Given the description of an element on the screen output the (x, y) to click on. 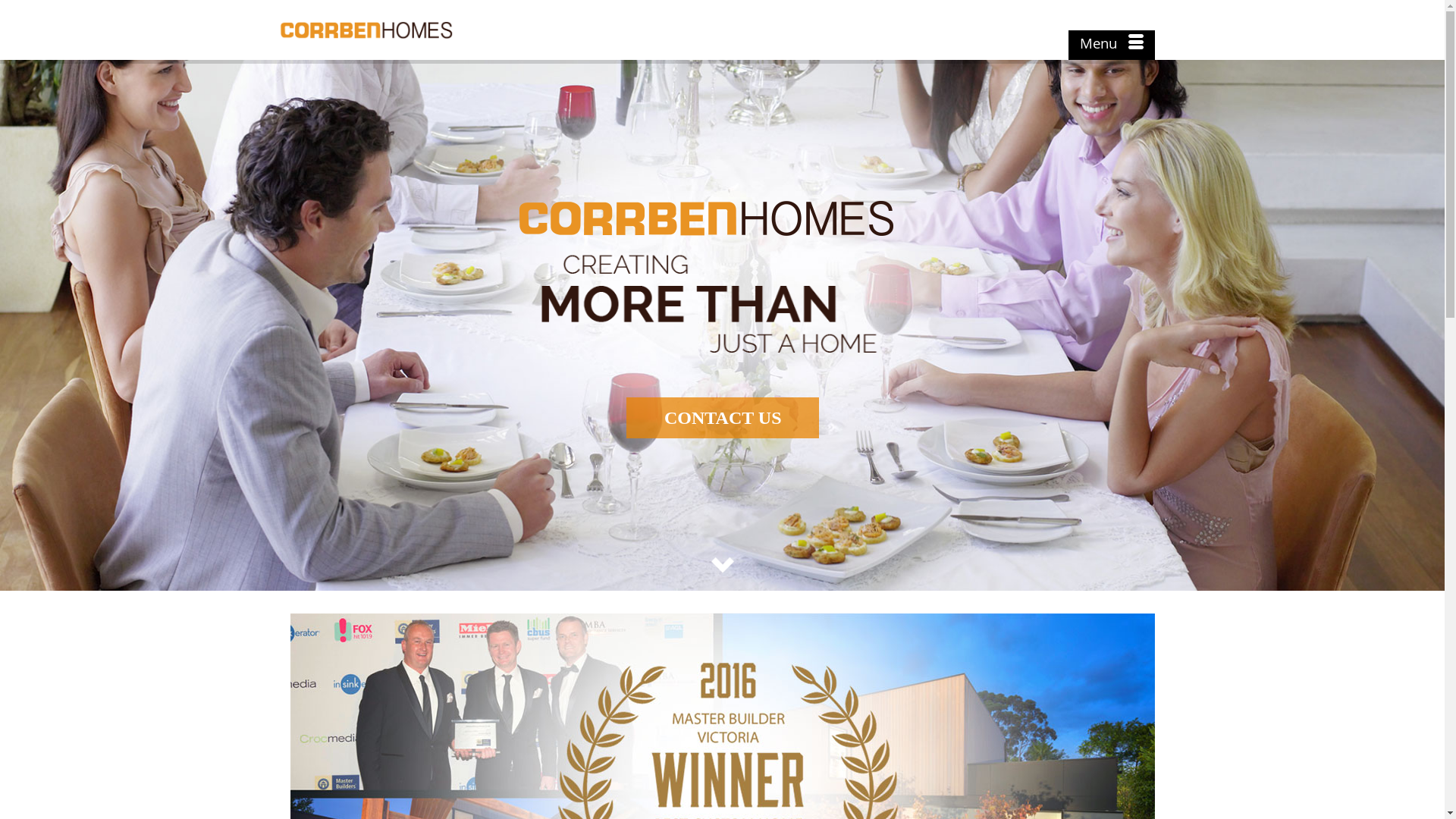
Menu Element type: text (1110, 45)
